Given the description of an element on the screen output the (x, y) to click on. 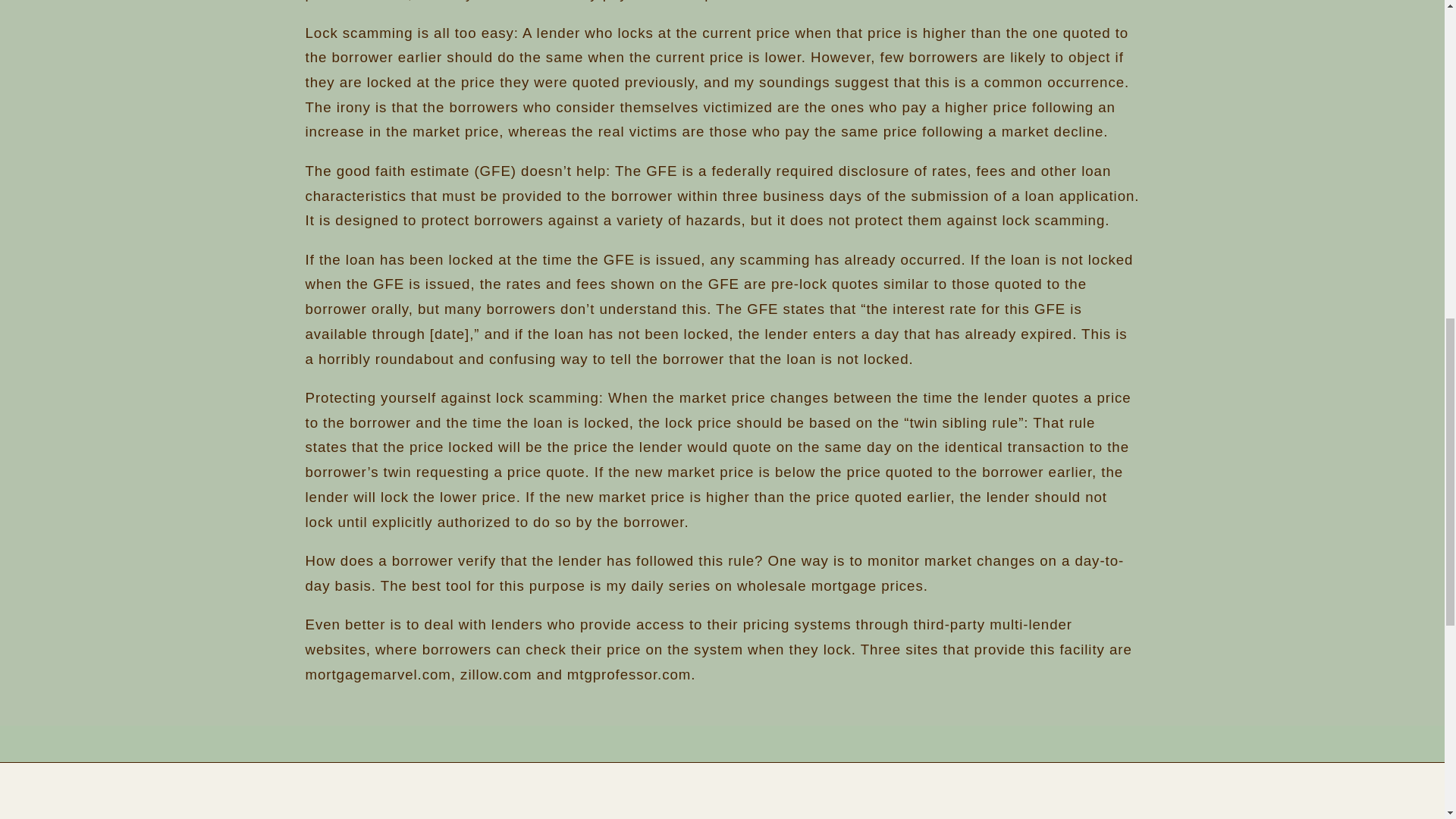
Scroll back to top (1406, 720)
